Given the description of an element on the screen output the (x, y) to click on. 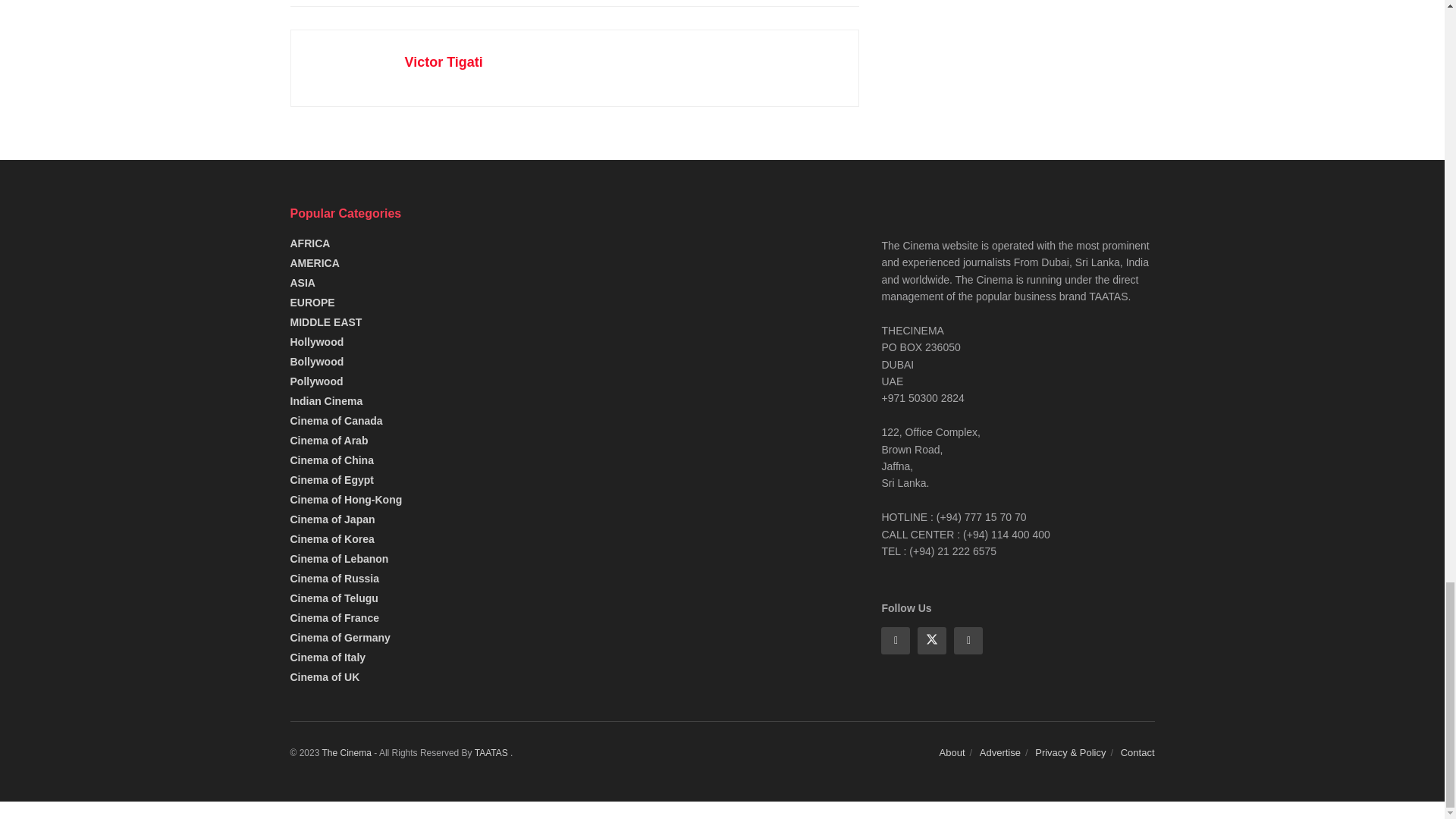
Jegtheme (492, 752)
